Given the description of an element on the screen output the (x, y) to click on. 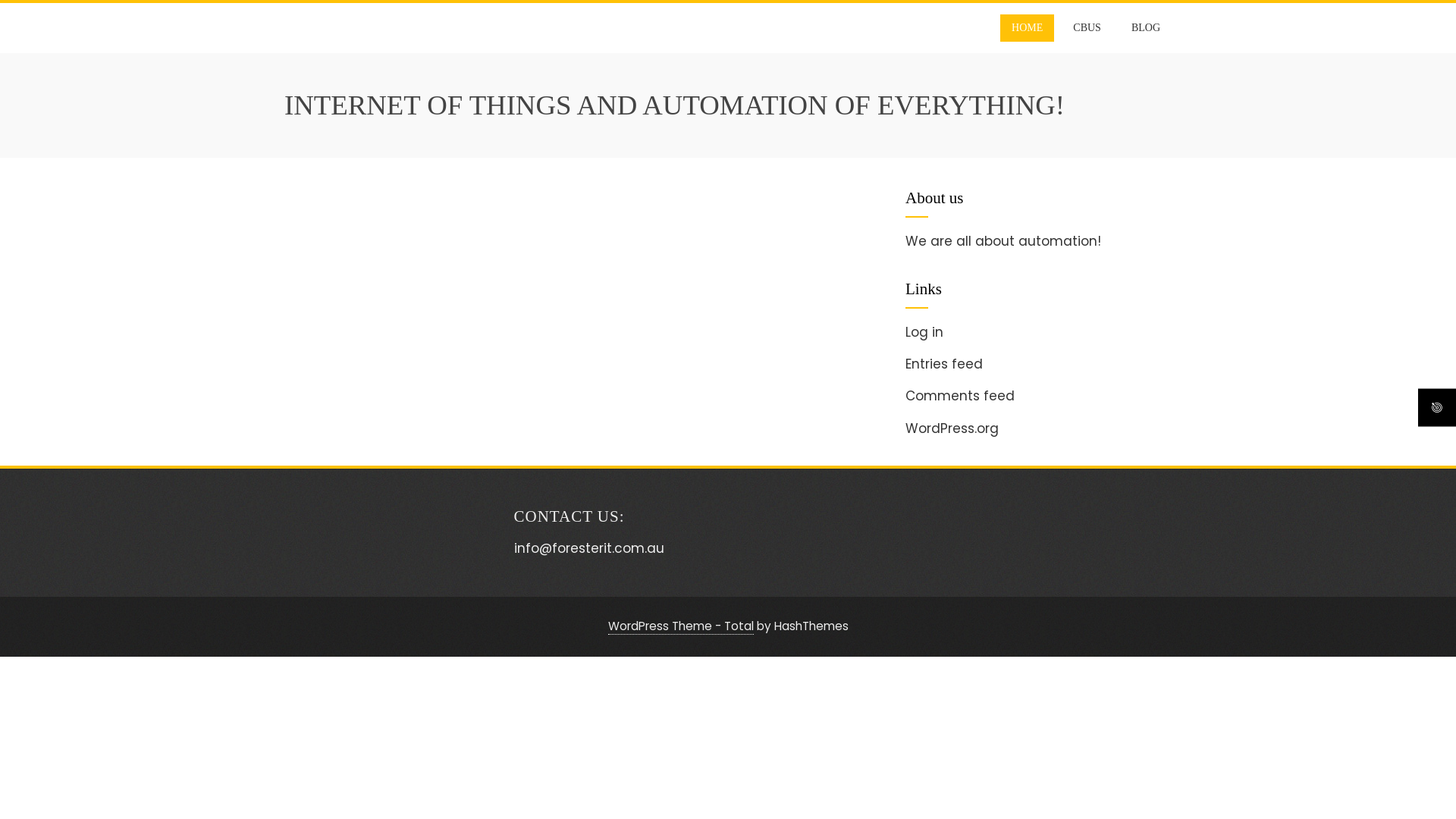
WordPress Theme - Total Element type: text (680, 626)
Log in Element type: text (924, 332)
Entries feed Element type: text (943, 363)
WordPress.org Element type: text (951, 427)
BLOG Element type: text (1145, 27)
Comments feed Element type: text (959, 395)
HOME Element type: text (1027, 27)
CBUS Element type: text (1086, 27)
